Given the description of an element on the screen output the (x, y) to click on. 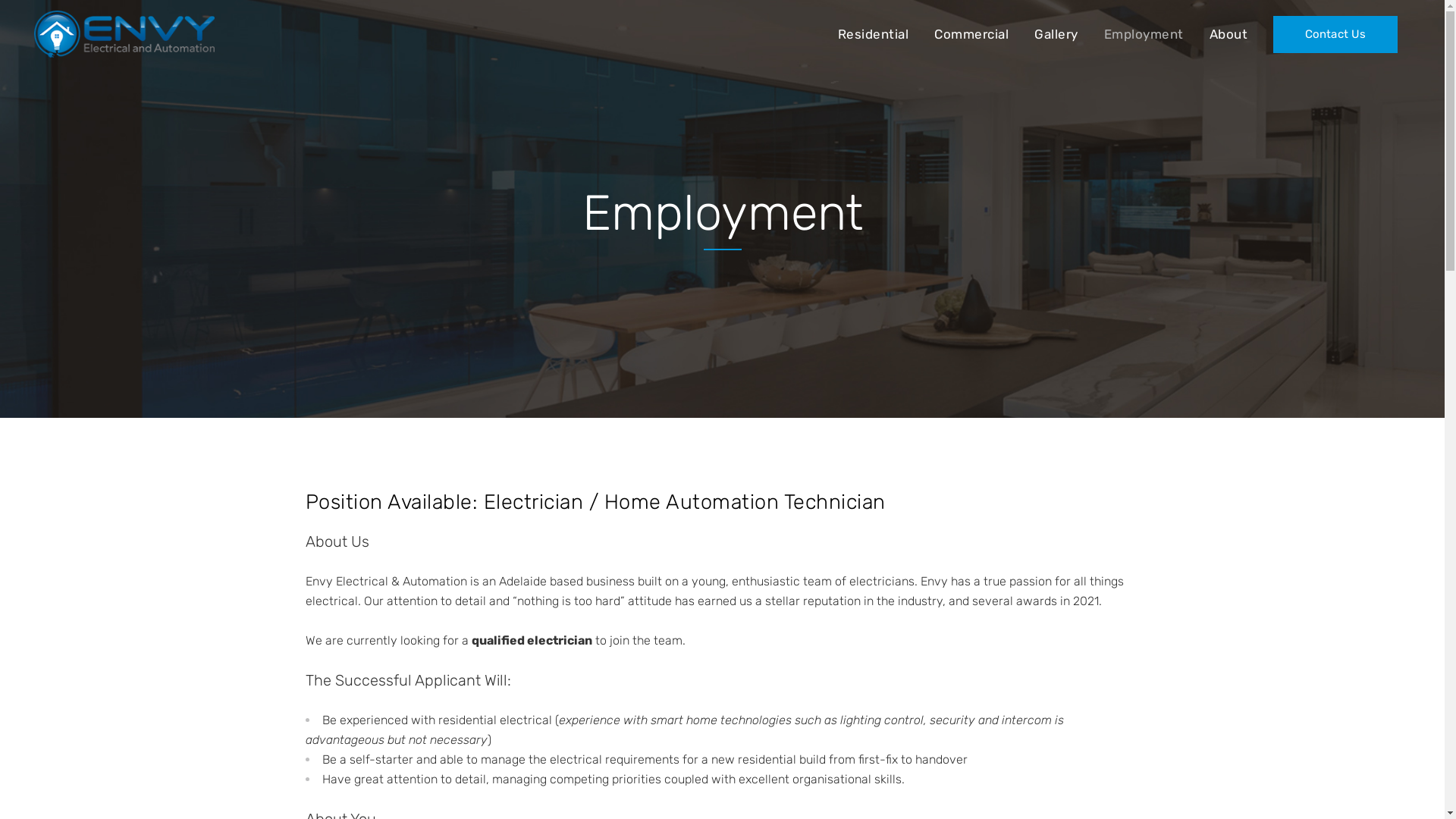
Employment Element type: text (1142, 34)
Commercial Element type: text (971, 34)
Gallery Element type: text (1056, 34)
Contact Us Element type: text (1335, 33)
About Element type: text (1228, 34)
Residential Element type: text (873, 34)
